Given the description of an element on the screen output the (x, y) to click on. 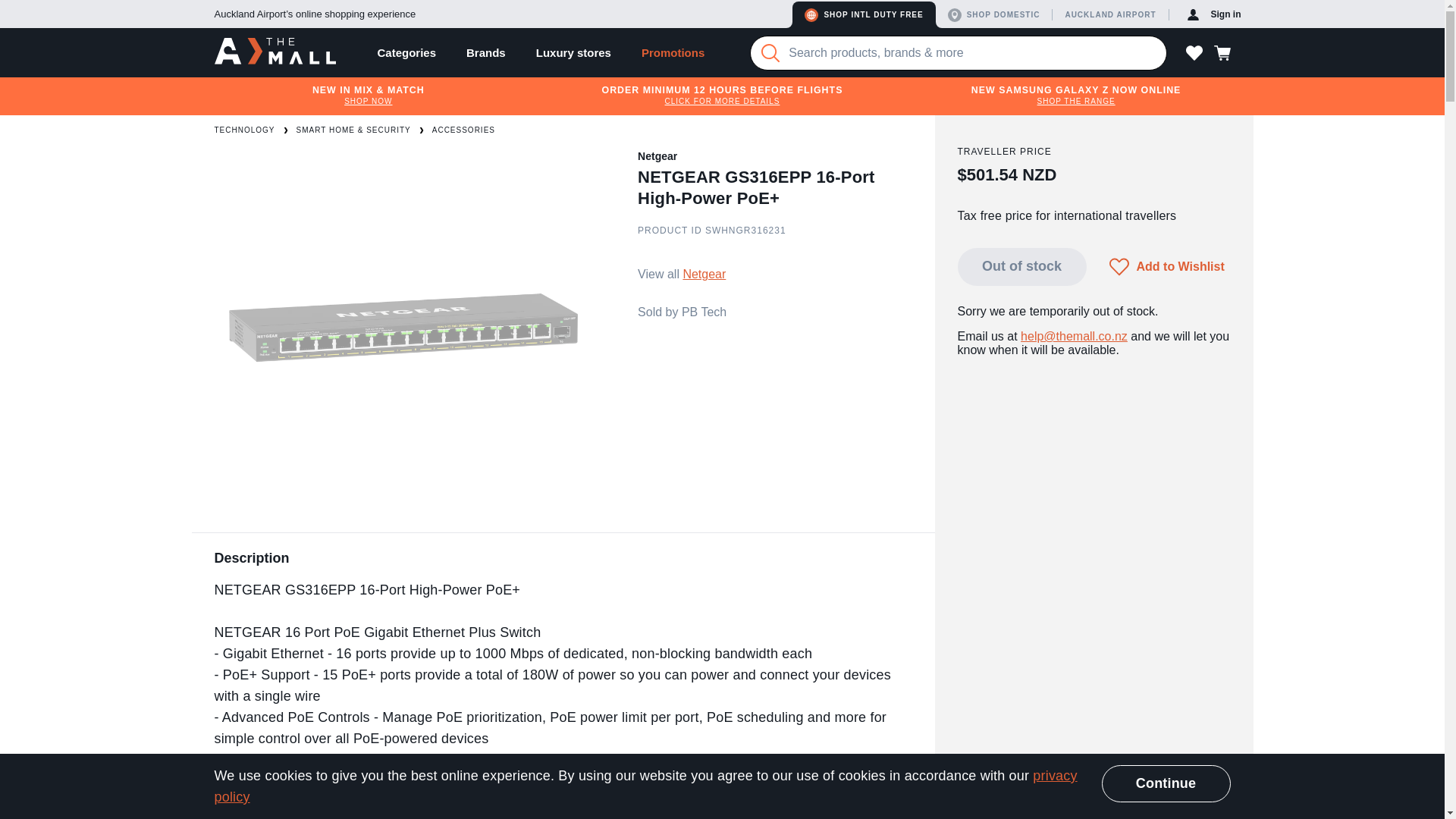
SHOP INTL DUTY FREE (863, 14)
AUCKLAND AIRPORT (1112, 14)
Sign in (1213, 14)
Categories (406, 51)
SHOP DOMESTIC (997, 14)
